Given the description of an element on the screen output the (x, y) to click on. 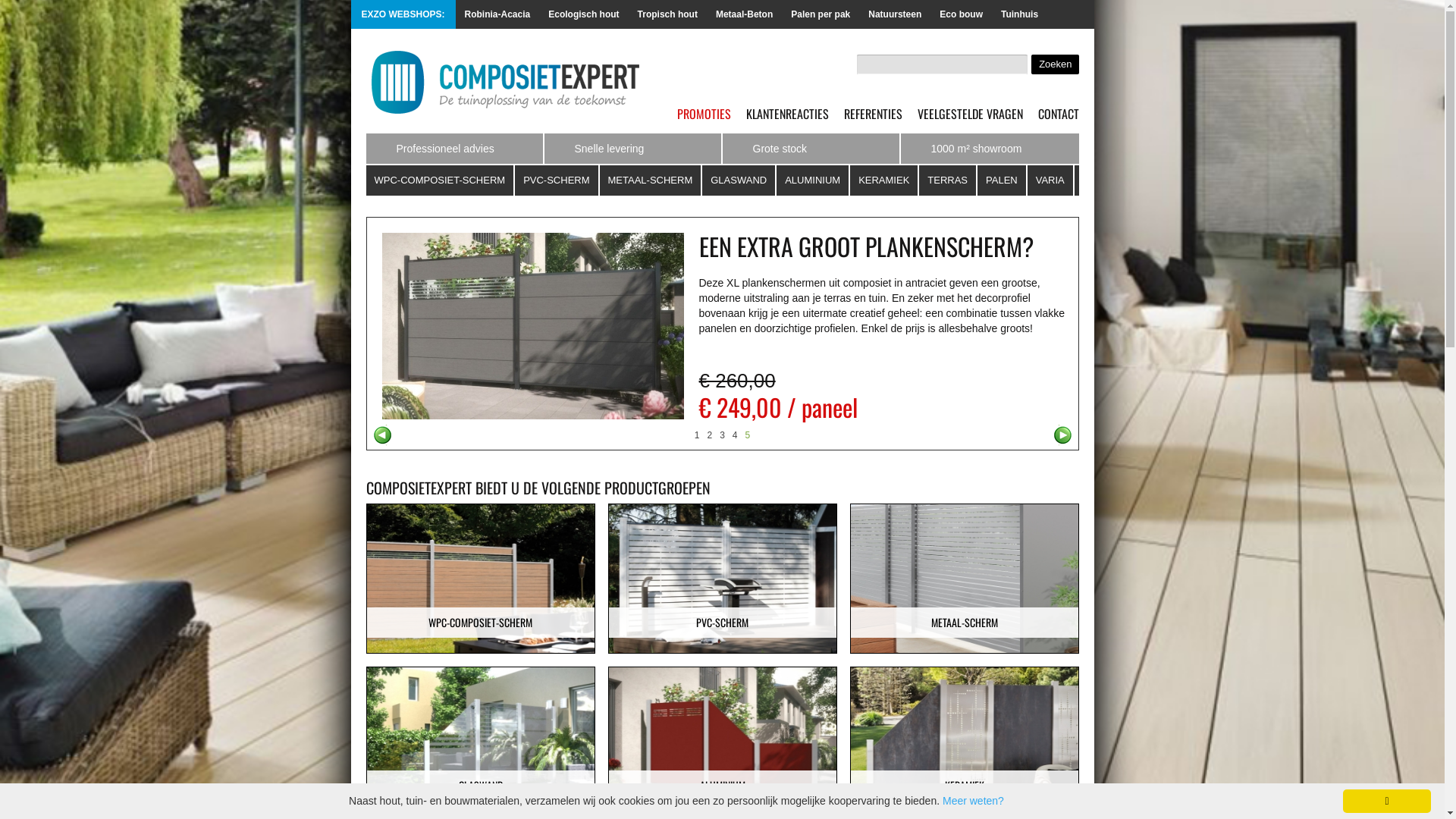
GLASWAND Element type: text (480, 785)
VARIA Element type: text (1050, 180)
EXZO WEBSHOPS: Element type: text (1054, 14)
REFERENTIES Element type: text (872, 113)
KERAMIEK Element type: text (964, 785)
ALUMINIUM Element type: text (813, 180)
PALEN Element type: text (1002, 180)
PROMOTIES Element type: text (703, 113)
KLANTENREACTIES Element type: text (787, 113)
PVC-SCHERM Element type: text (721, 622)
Tropisch hout Element type: text (667, 14)
METAAL-SCHERM Element type: text (650, 180)
Meer weten? Element type: text (973, 800)
GLASWAND Element type: text (739, 180)
WPC-COMPOSIET-SCHERM Element type: text (439, 180)
WPC-COMPOSIET-SCHERM Element type: text (480, 622)
Eco bouw Element type: text (960, 14)
Palen per pak Element type: text (820, 14)
VEELGESTELDE VRAGEN Element type: text (969, 113)
Tuinhuis Element type: text (1019, 14)
TERRAS Element type: text (948, 180)
METAAL-SCHERM Element type: text (964, 622)
CONTACT Element type: text (1057, 113)
PVC-SCHERM Element type: text (556, 180)
Metaal-Beton Element type: text (743, 14)
KERAMIEK Element type: text (884, 180)
Natuursteen Element type: text (894, 14)
Robinia-Acacia Element type: text (497, 14)
Zoeken Element type: text (1054, 64)
Ecologisch hout Element type: text (583, 14)
ALUMINIUM Element type: text (721, 785)
